Given the description of an element on the screen output the (x, y) to click on. 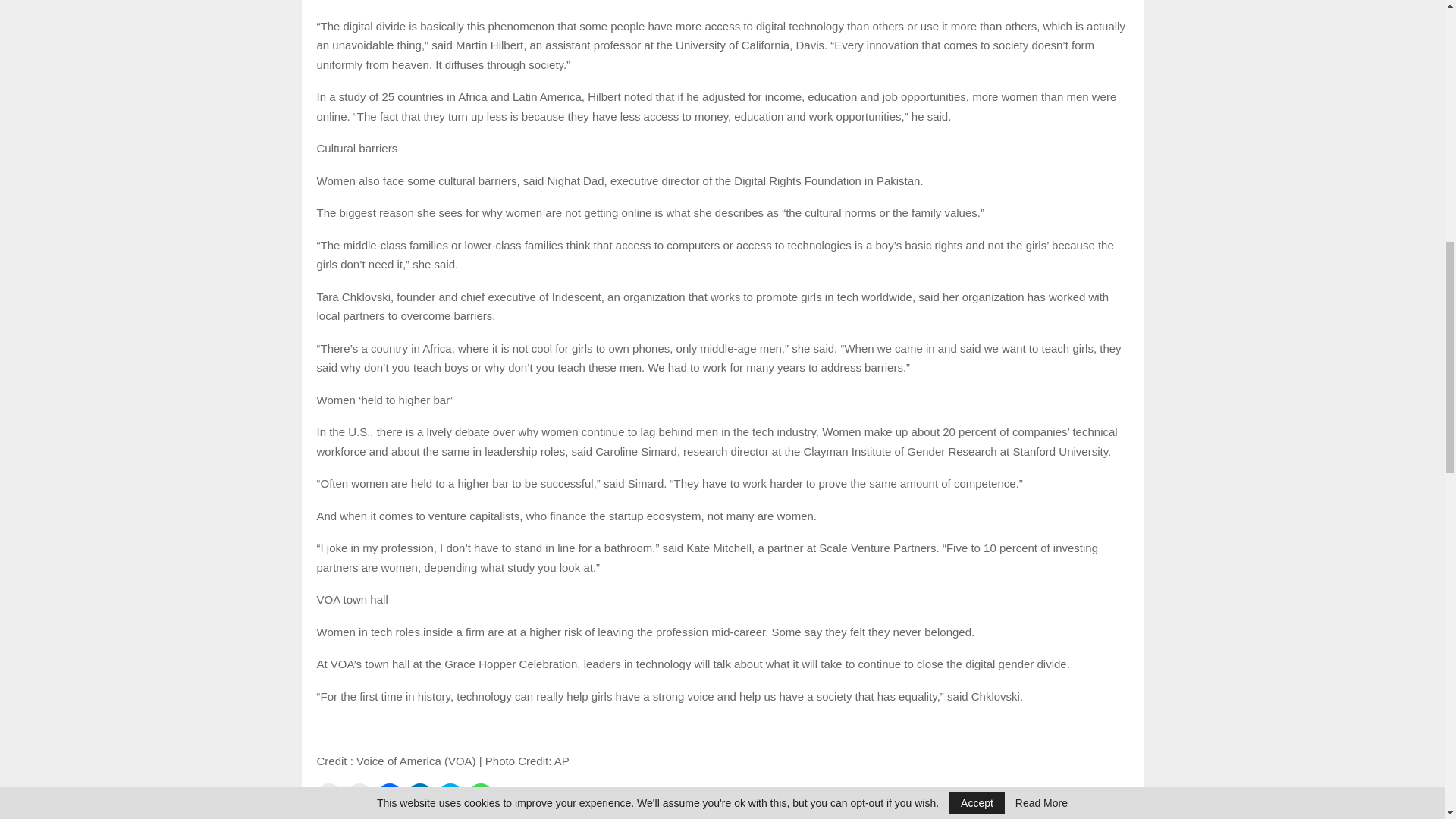
Click to print (359, 794)
Click to share on Facebook (389, 794)
Click to email a link to a friend (328, 794)
Click to share on LinkedIn (419, 794)
